Given the description of an element on the screen output the (x, y) to click on. 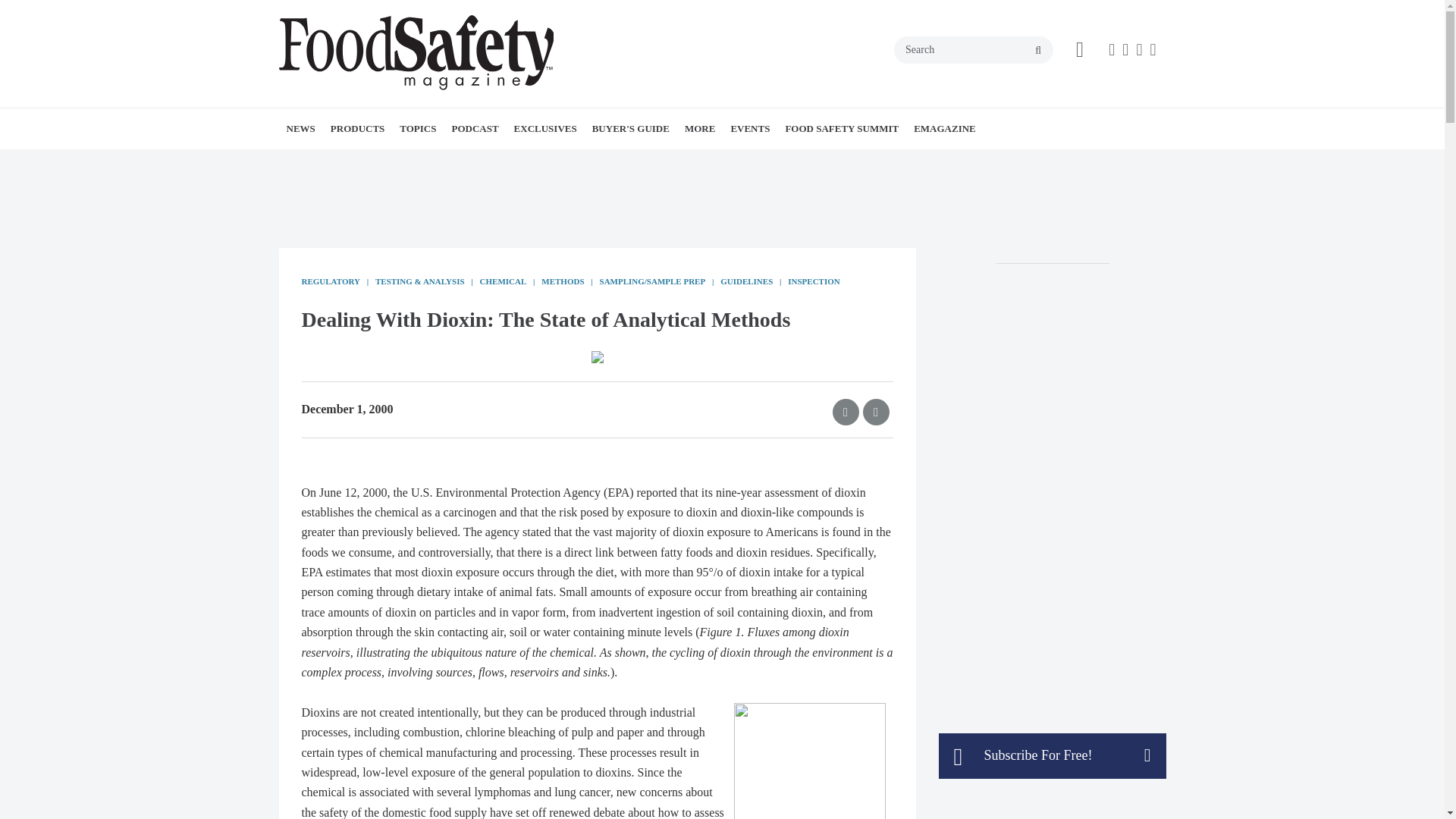
BUYER'S GUIDE (631, 128)
SANITATION (515, 161)
WHITE PAPERS (380, 161)
EBOOKS (600, 161)
REGULATORY (509, 161)
FSM DISTINGUISHED SERVICE AWARD (608, 170)
STORE (778, 161)
TOPICS (417, 128)
PODCAST (474, 128)
PRODUCTS (358, 128)
LATEST NEWS (373, 161)
MANAGEMENT (500, 161)
PROCESS CONTROL (504, 161)
NEWS (301, 128)
CONTAMINATION CONTROL (485, 161)
